Given the description of an element on the screen output the (x, y) to click on. 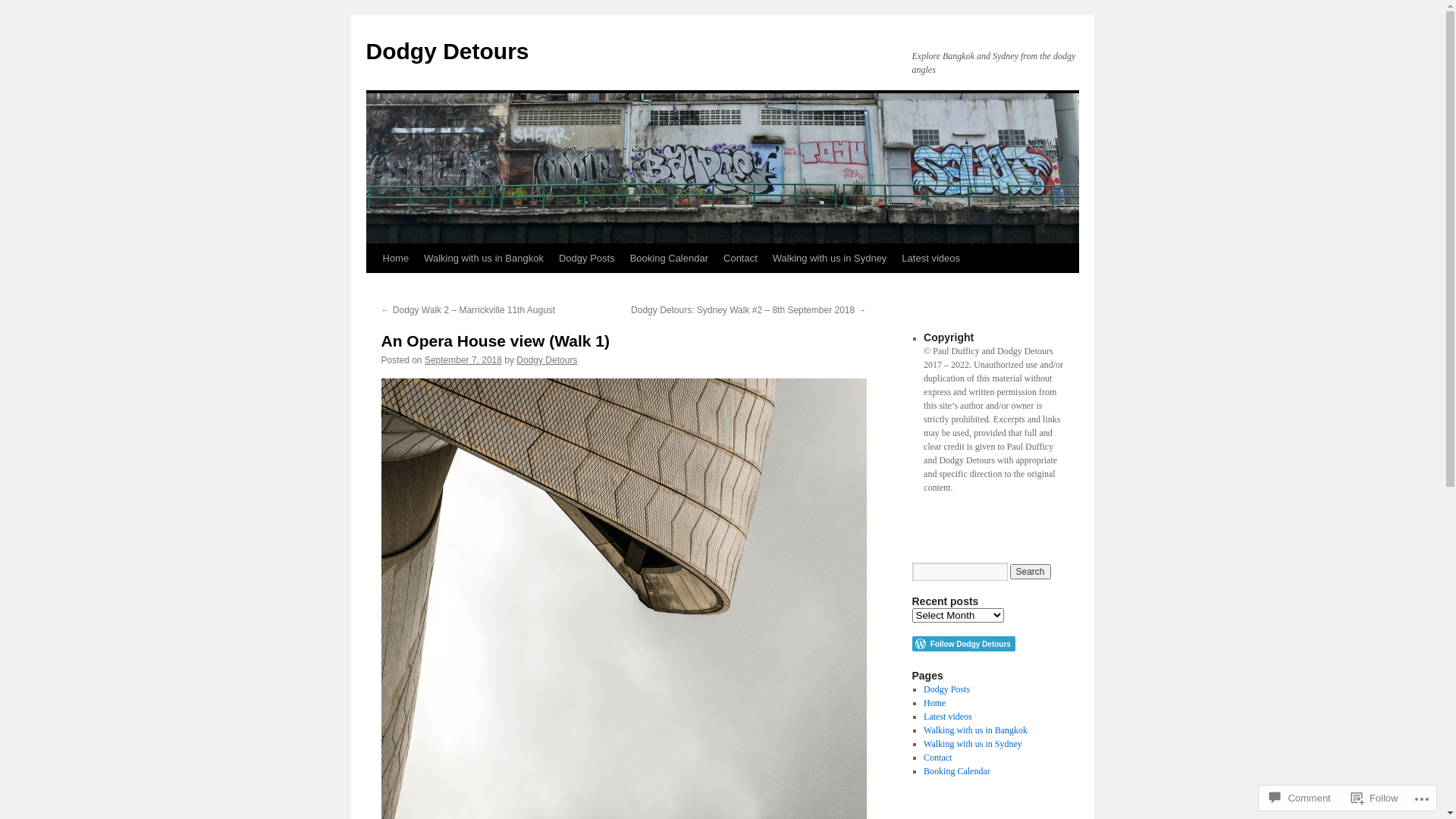
Walking with us in Bangkok Element type: text (975, 729)
Walking with us in Sydney Element type: text (972, 743)
Home Element type: text (395, 258)
Dodgy Detours Element type: text (546, 359)
September 7, 2018 Element type: text (463, 359)
Dodgy Detours Element type: text (446, 50)
An Opera House view (Walk 1) Element type: text (494, 340)
Latest videos Element type: text (930, 258)
Dodgy Posts Element type: text (946, 689)
Dodgy Posts Element type: text (586, 258)
Booking Calendar Element type: text (668, 258)
Walking with us in Sydney Element type: text (829, 258)
Comment Element type: text (1299, 797)
Contact Element type: text (937, 757)
Contact Element type: text (740, 258)
Search Element type: text (1030, 571)
Walking with us in Bangkok Element type: text (483, 258)
Follow Button Element type: hover (987, 643)
Follow Element type: text (1374, 797)
Home Element type: text (934, 702)
Latest videos Element type: text (947, 716)
Booking Calendar Element type: text (956, 770)
